Given the description of an element on the screen output the (x, y) to click on. 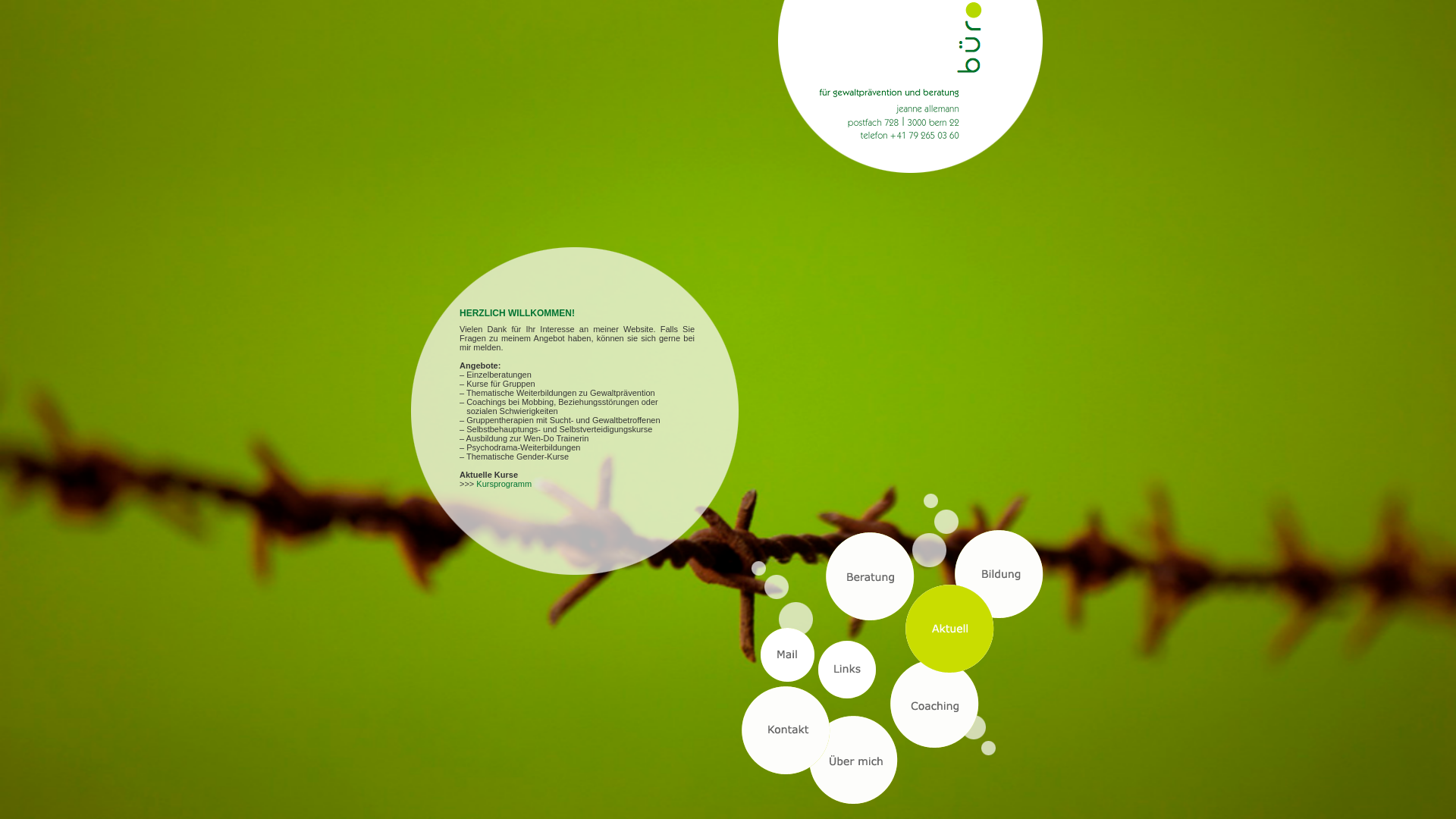
Kursprogramm Element type: text (503, 483)
